Given the description of an element on the screen output the (x, y) to click on. 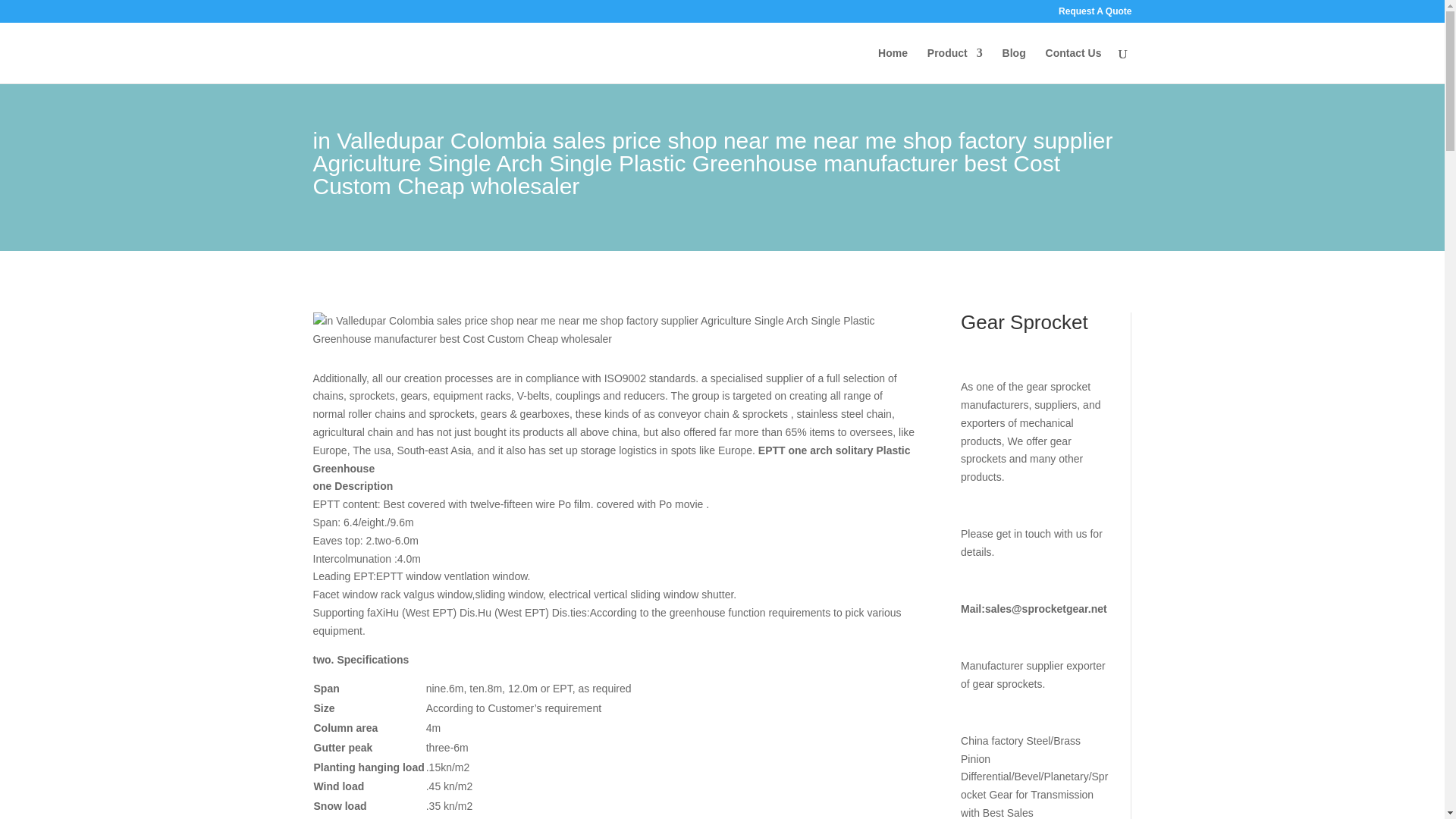
Request A Quote (1094, 14)
Product (954, 65)
Contact Us (1073, 65)
